Given the description of an element on the screen output the (x, y) to click on. 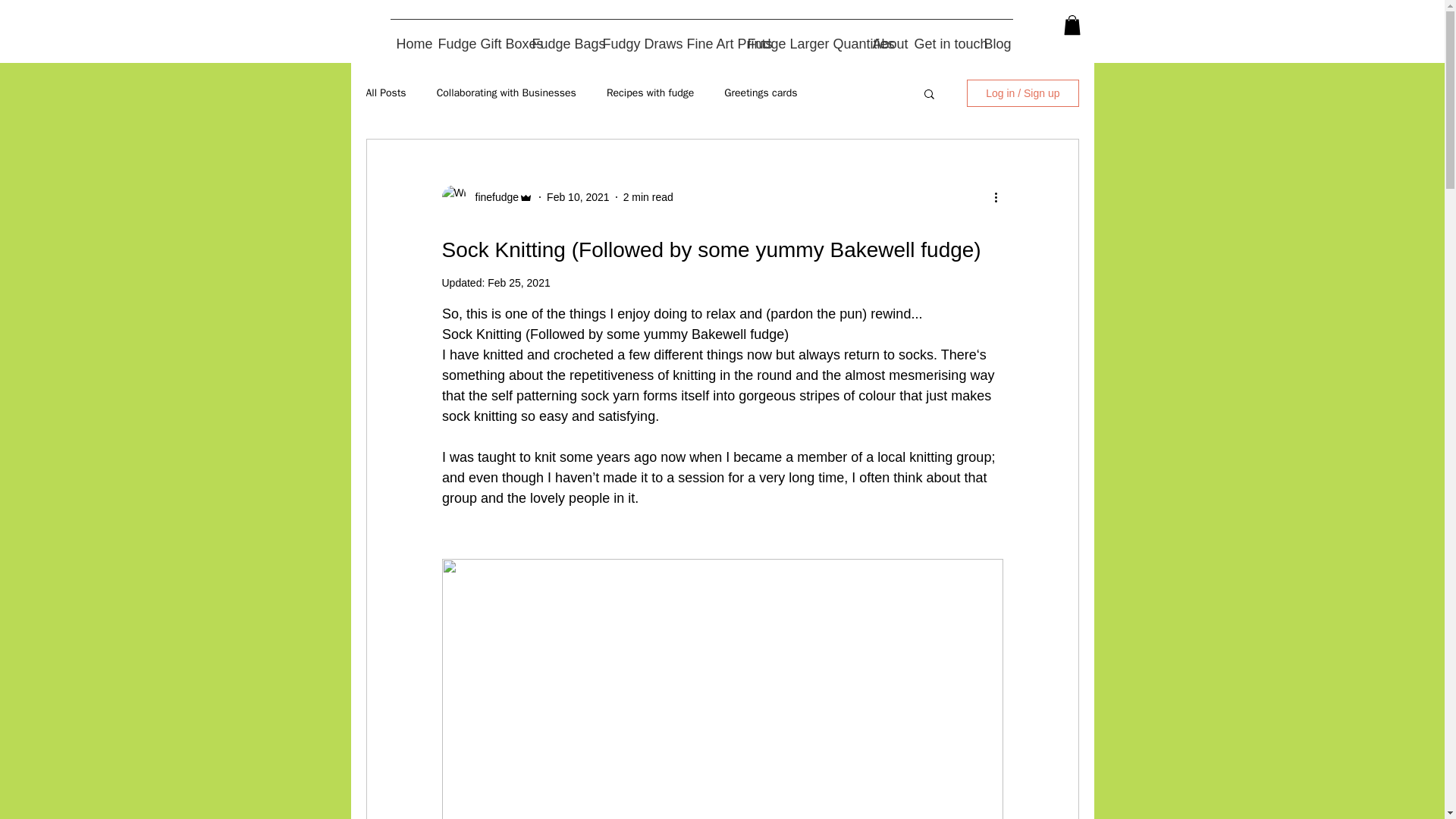
Feb 10, 2021 (578, 196)
All Posts (385, 92)
Home (410, 37)
Blog (995, 37)
Collaborating with Businesses (506, 92)
Recipes with fudge (650, 92)
Feb 25, 2021 (518, 282)
finefudge (491, 197)
Get in touch (943, 37)
Fudge Gift Boxes (478, 37)
